Given the description of an element on the screen output the (x, y) to click on. 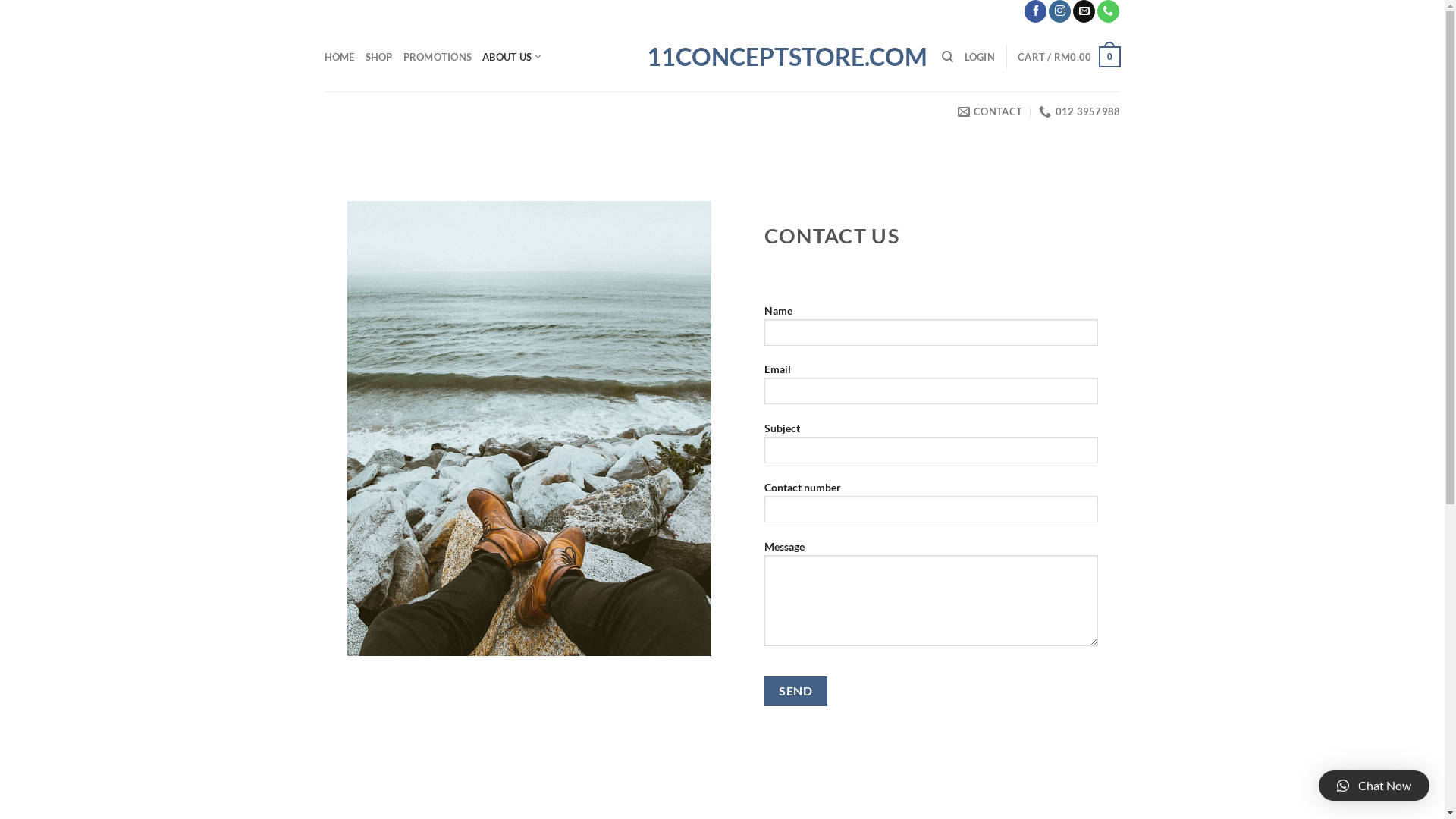
LOGIN Element type: text (979, 56)
HOME Element type: text (339, 56)
Chat Now Element type: text (1373, 785)
Skip to content Element type: text (0, 0)
11CONCEPTSTORE.COM Element type: text (721, 56)
012 3957988 Element type: text (1079, 111)
SHOP Element type: text (378, 56)
CART / RM0.00
0 Element type: text (1068, 56)
PROMOTIONS Element type: text (437, 56)
CONTACT Element type: text (989, 111)
Send Element type: text (795, 691)
ABOUT US Element type: text (512, 56)
